Given the description of an element on the screen output the (x, y) to click on. 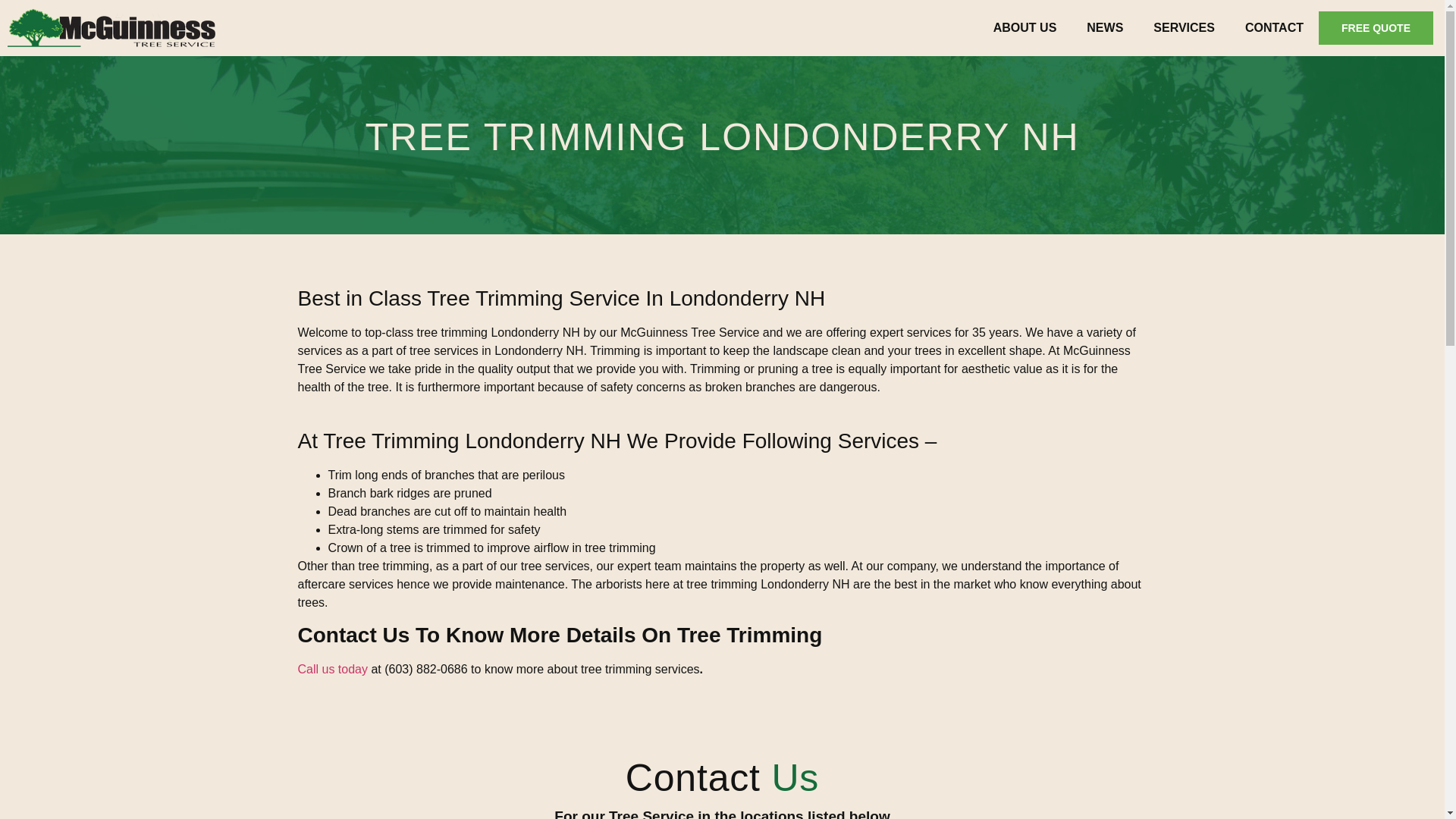
ABOUT US (1024, 27)
CONTACT (1274, 27)
SERVICES (1184, 27)
NEWS (1104, 27)
